Given the description of an element on the screen output the (x, y) to click on. 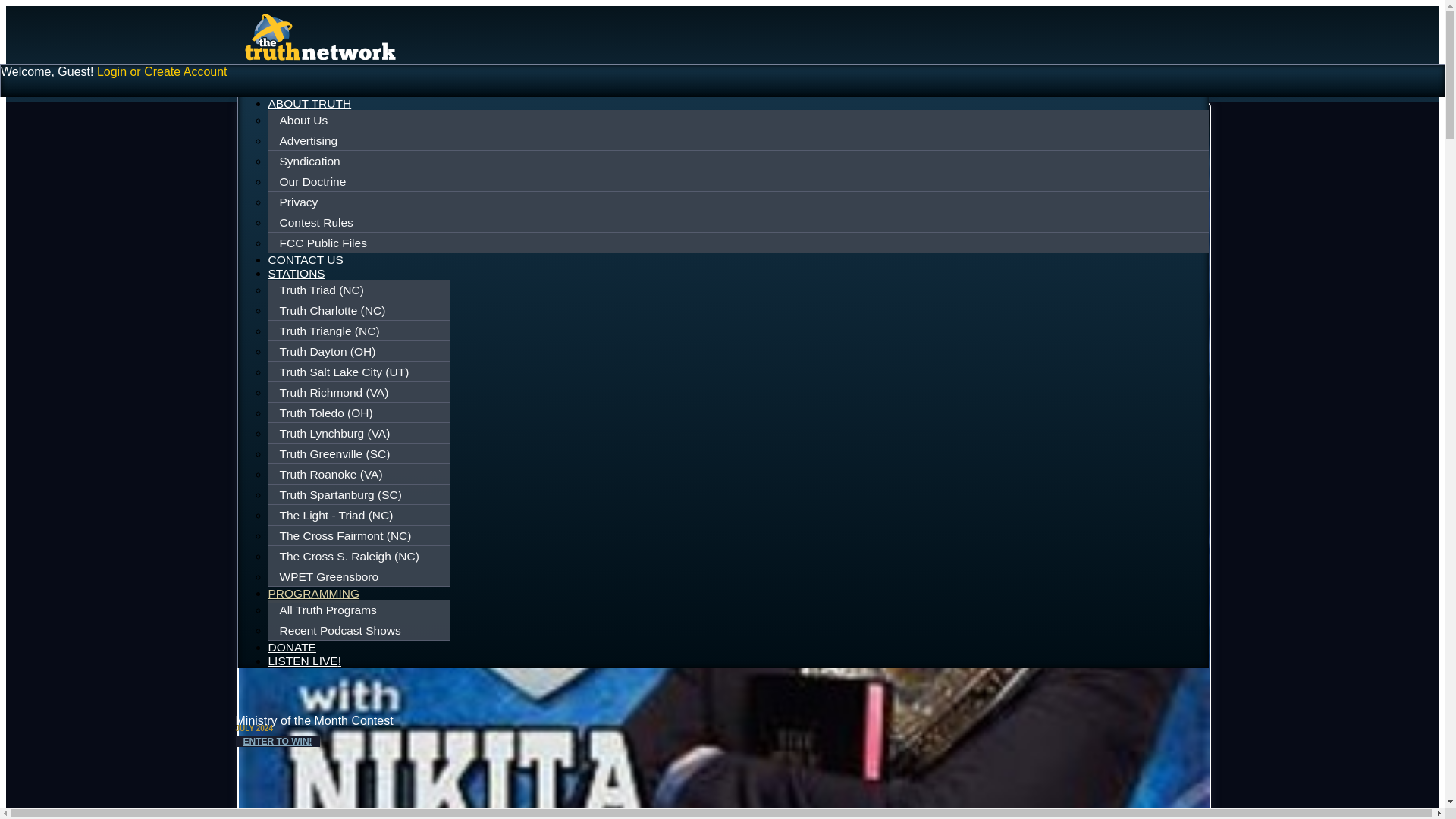
PROGRAMMING (313, 594)
FCC Public Files (739, 243)
CONTACT US (305, 259)
WPET Greensboro (360, 576)
STATIONS (295, 273)
Our Doctrine (739, 181)
HOME (285, 89)
Advertising (739, 140)
Privacy (739, 202)
About Us (739, 120)
Syndication (739, 161)
ABOUT TRUTH (309, 103)
Contest Rules (739, 222)
